Given the description of an element on the screen output the (x, y) to click on. 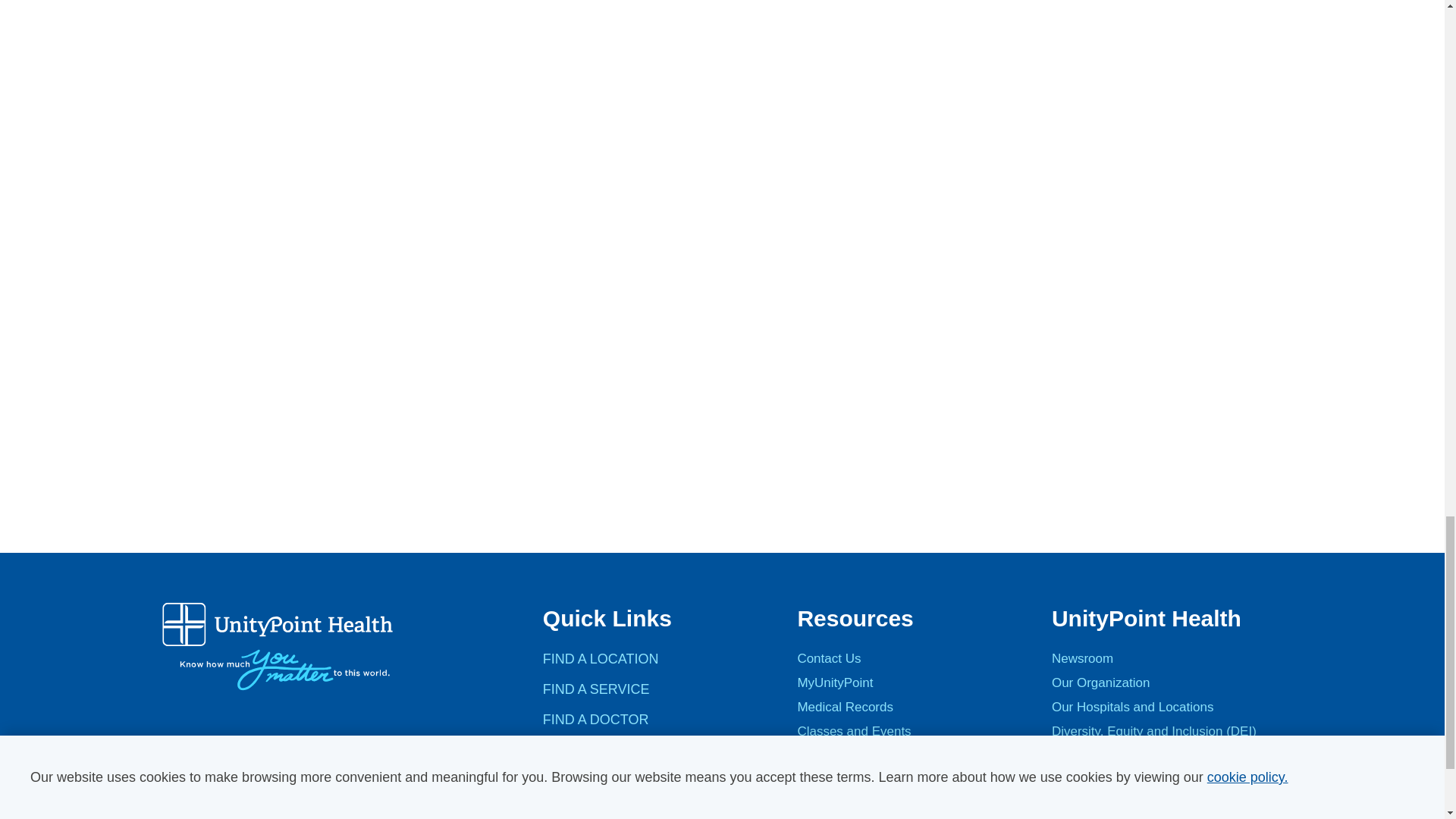
Facebook (179, 794)
Pinterest (377, 794)
Instagram (299, 794)
Twitter (220, 794)
YouTube (259, 794)
Linkedin (338, 794)
